Given the description of an element on the screen output the (x, y) to click on. 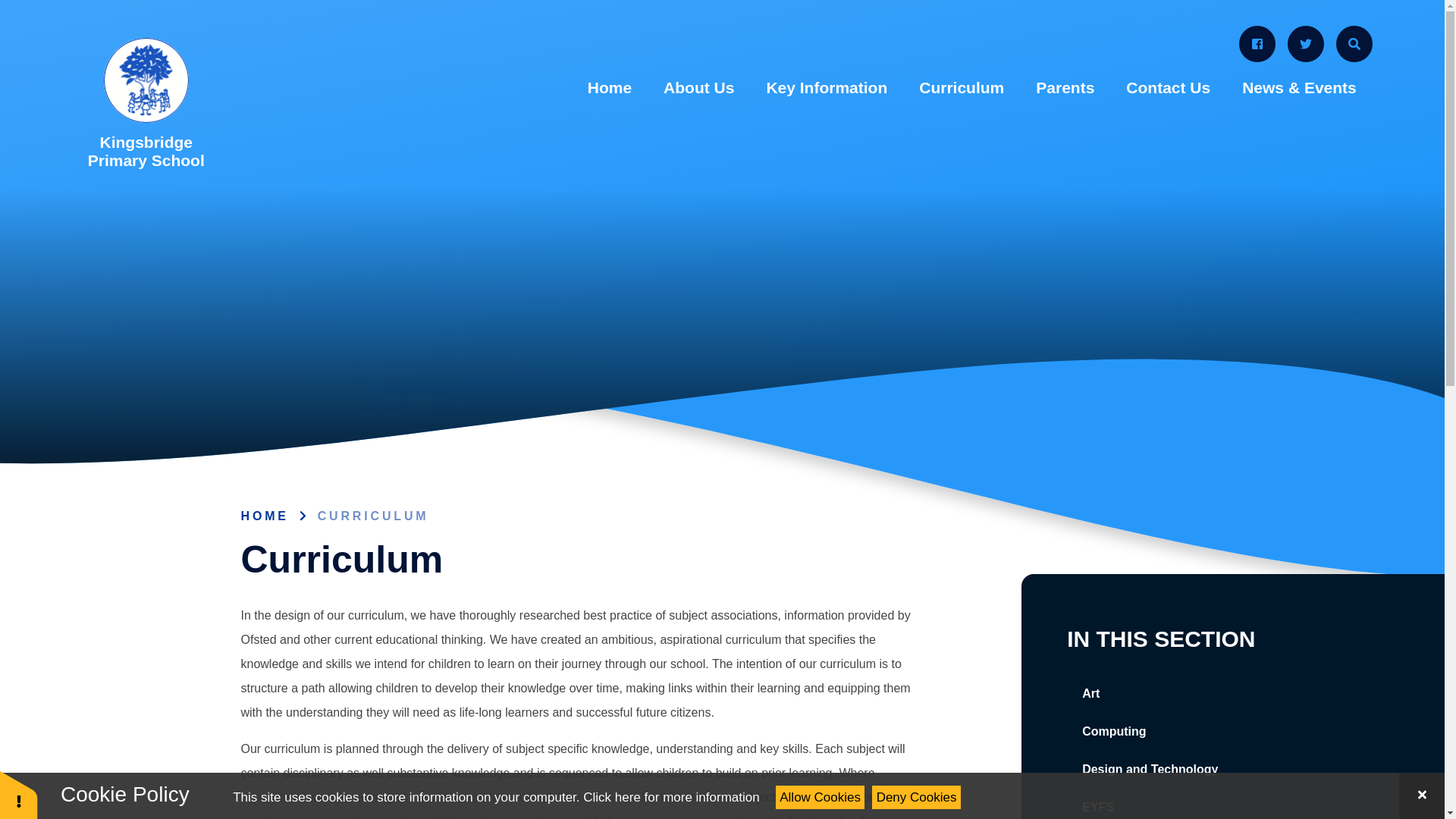
Deny Cookies (915, 797)
Home (609, 87)
About Us (698, 87)
See cookie policy (670, 797)
Key Information (825, 87)
Allow Cookies (820, 797)
